Given the description of an element on the screen output the (x, y) to click on. 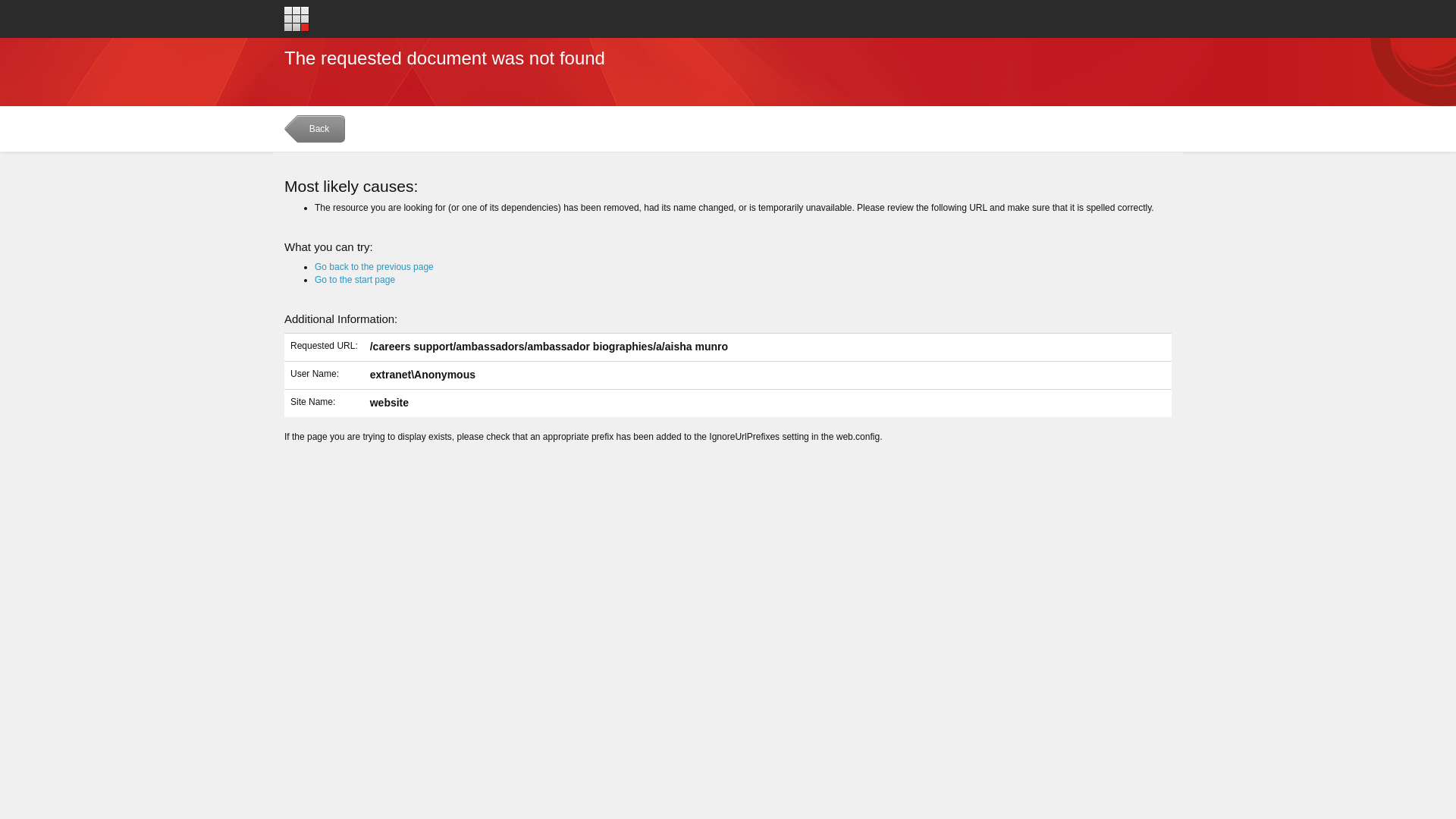
Back (316, 131)
Go to the start page (354, 279)
Go to the start page (295, 18)
Go back to the previous page (373, 266)
